Given the description of an element on the screen output the (x, y) to click on. 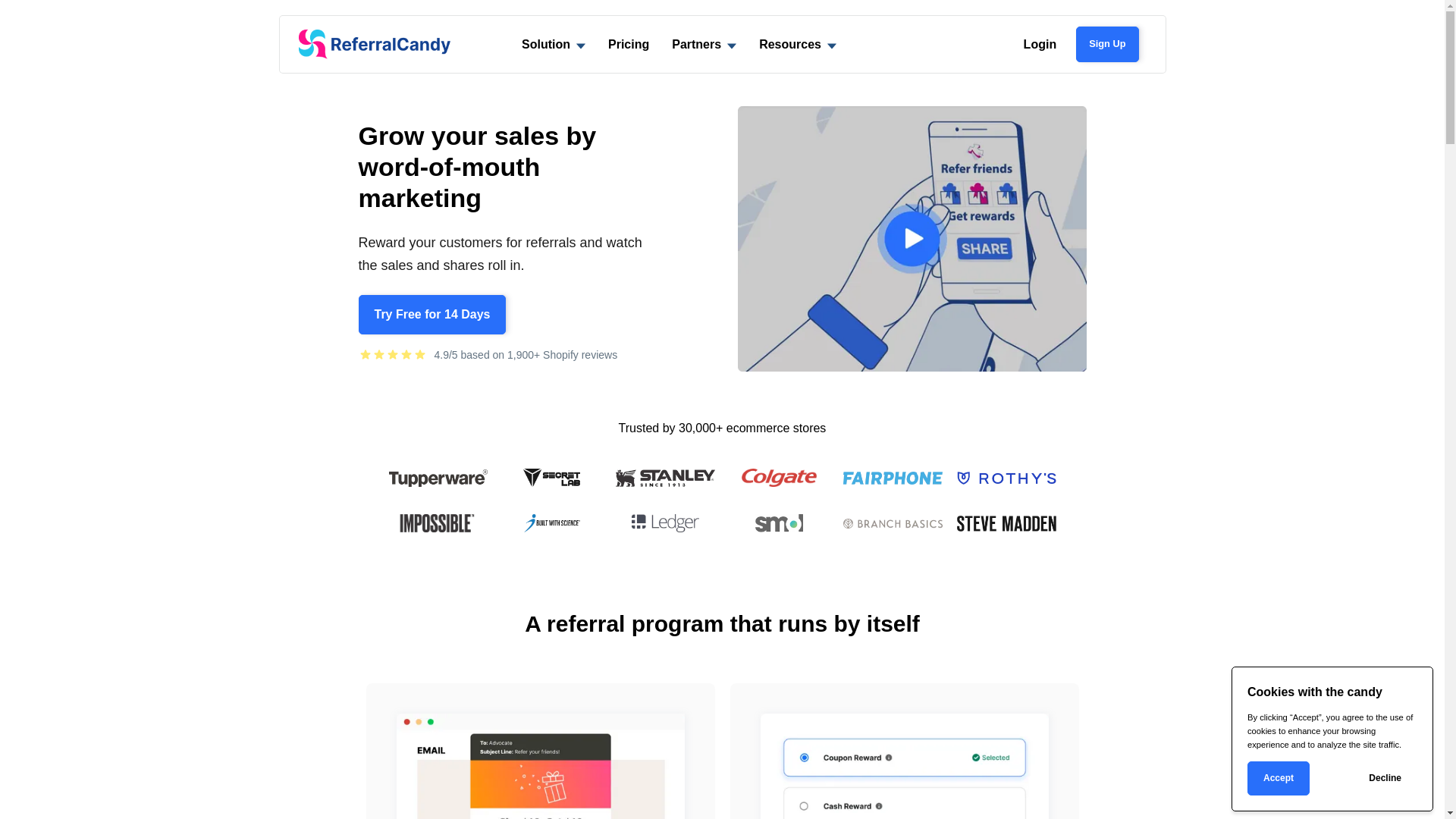
Sign Up Element type: text (1107, 43)
Decline Element type: text (1384, 778)
Accept Element type: text (1278, 778)
Login Element type: text (1040, 43)
Pricing Element type: text (628, 43)
Try Free for 14 Days Element type: text (431, 314)
